Given the description of an element on the screen output the (x, y) to click on. 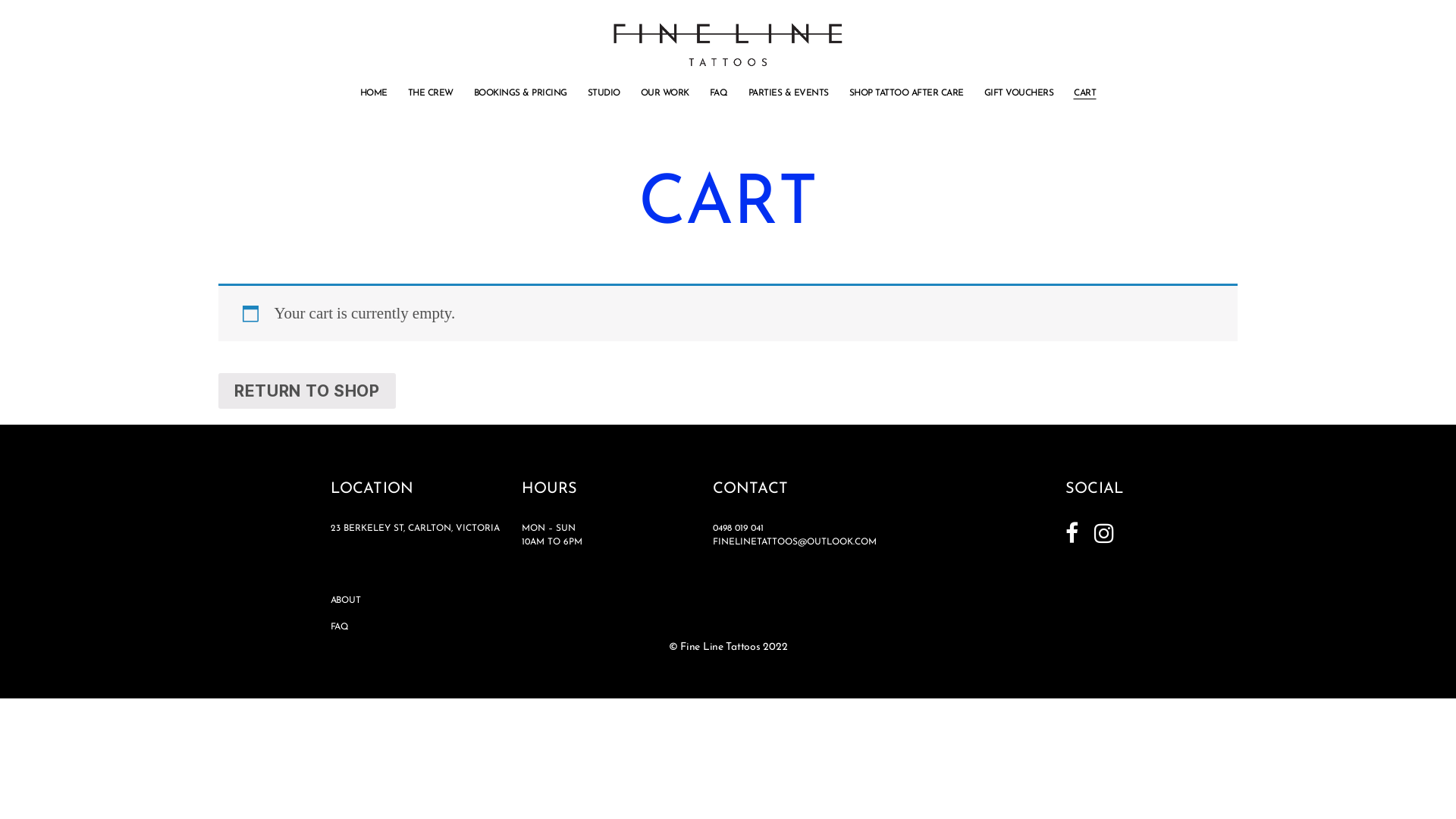
FINELINETATTOOS@OUTLOOK.COM Element type: text (794, 541)
RETURN TO SHOP Element type: text (306, 390)
HOME Element type: text (373, 93)
BOOKINGS & PRICING Element type: text (520, 93)
OUR WORK Element type: text (665, 93)
STUDIO Element type: text (603, 93)
CART Element type: text (1084, 93)
SHOP TATTOO AFTER CARE Element type: text (906, 93)
FAQ Element type: text (718, 93)
FAQ Element type: text (339, 626)
ABOUT Element type: text (345, 600)
GIFT VOUCHERS Element type: text (1018, 93)
THE CREW Element type: text (430, 93)
PARTIES & EVENTS Element type: text (788, 93)
